Given the description of an element on the screen output the (x, y) to click on. 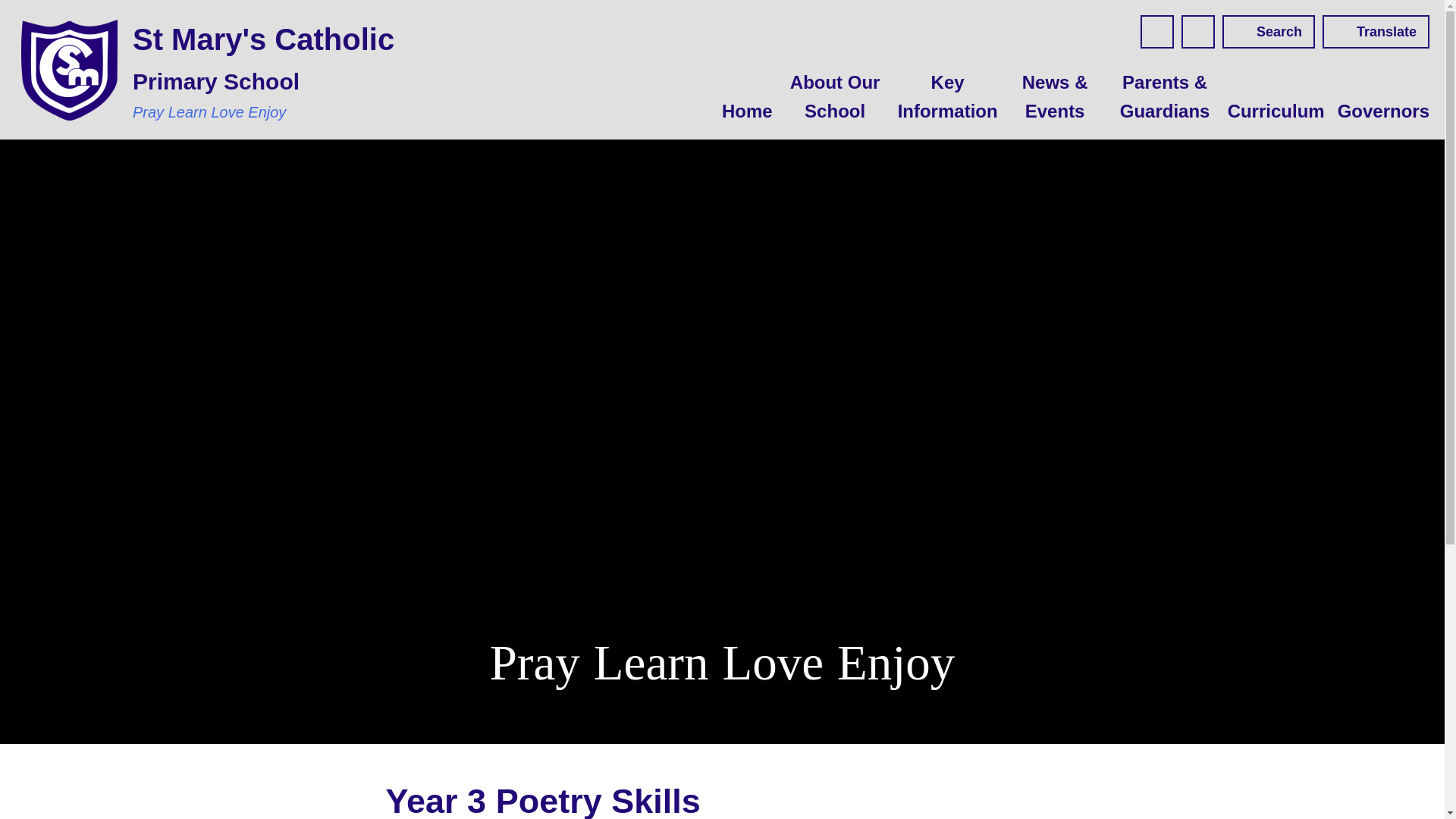
Home Page (69, 69)
Facebook (1156, 31)
Search (1268, 31)
Translate (1375, 31)
ParentPay (1197, 31)
About Our School (834, 96)
Key Information (945, 96)
